Given the description of an element on the screen output the (x, y) to click on. 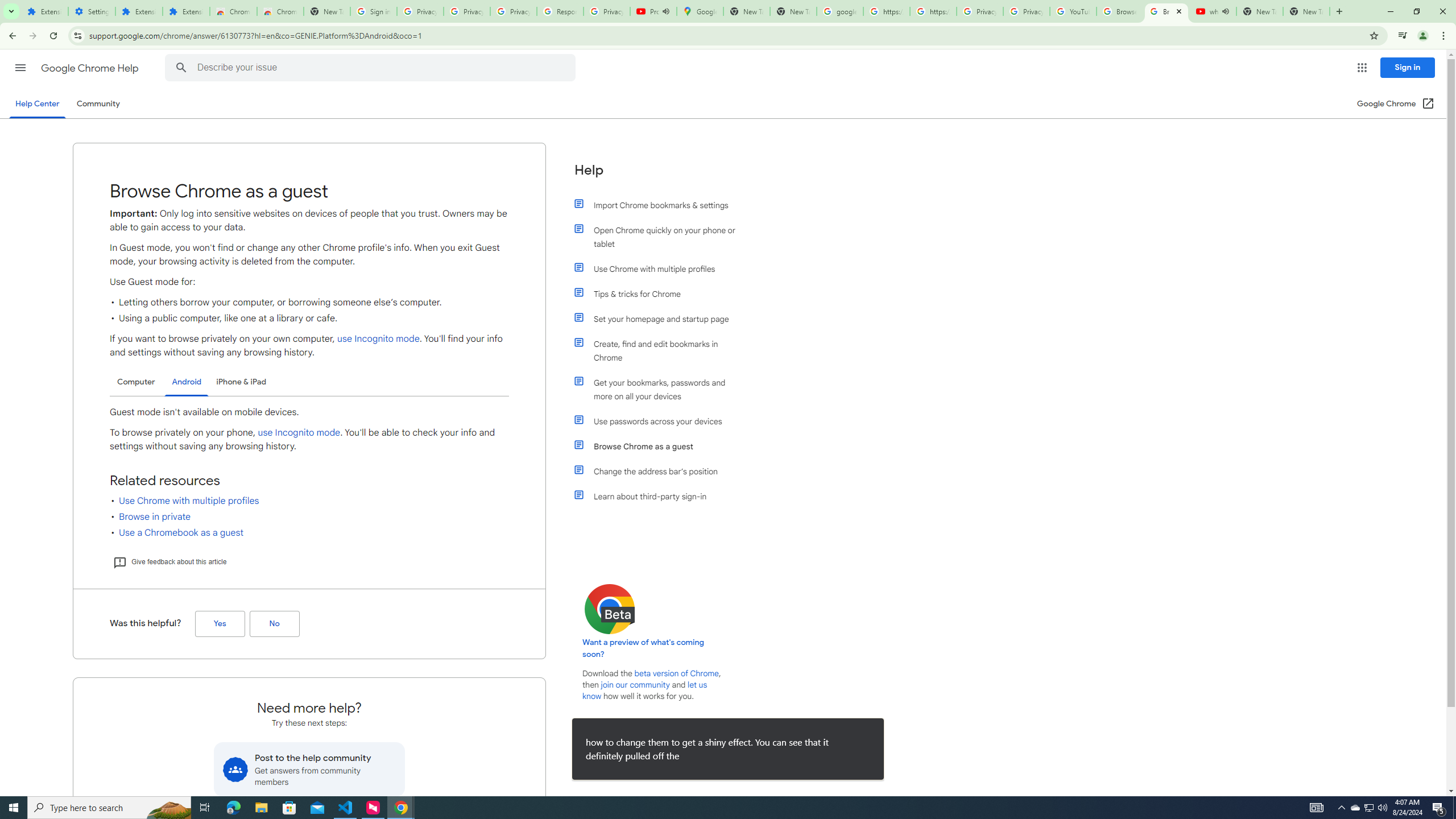
Use passwords across your devices (661, 421)
Chrome Web Store (233, 11)
Browse Chrome as a guest - Computer - Google Chrome Help (1120, 11)
Give feedback about this article (169, 561)
Android (186, 382)
Want a preview of what's coming soon? (643, 648)
use Incognito mode (298, 432)
Computer (136, 381)
Browse Chrome as a guest (661, 446)
Google Maps (699, 11)
